Given the description of an element on the screen output the (x, y) to click on. 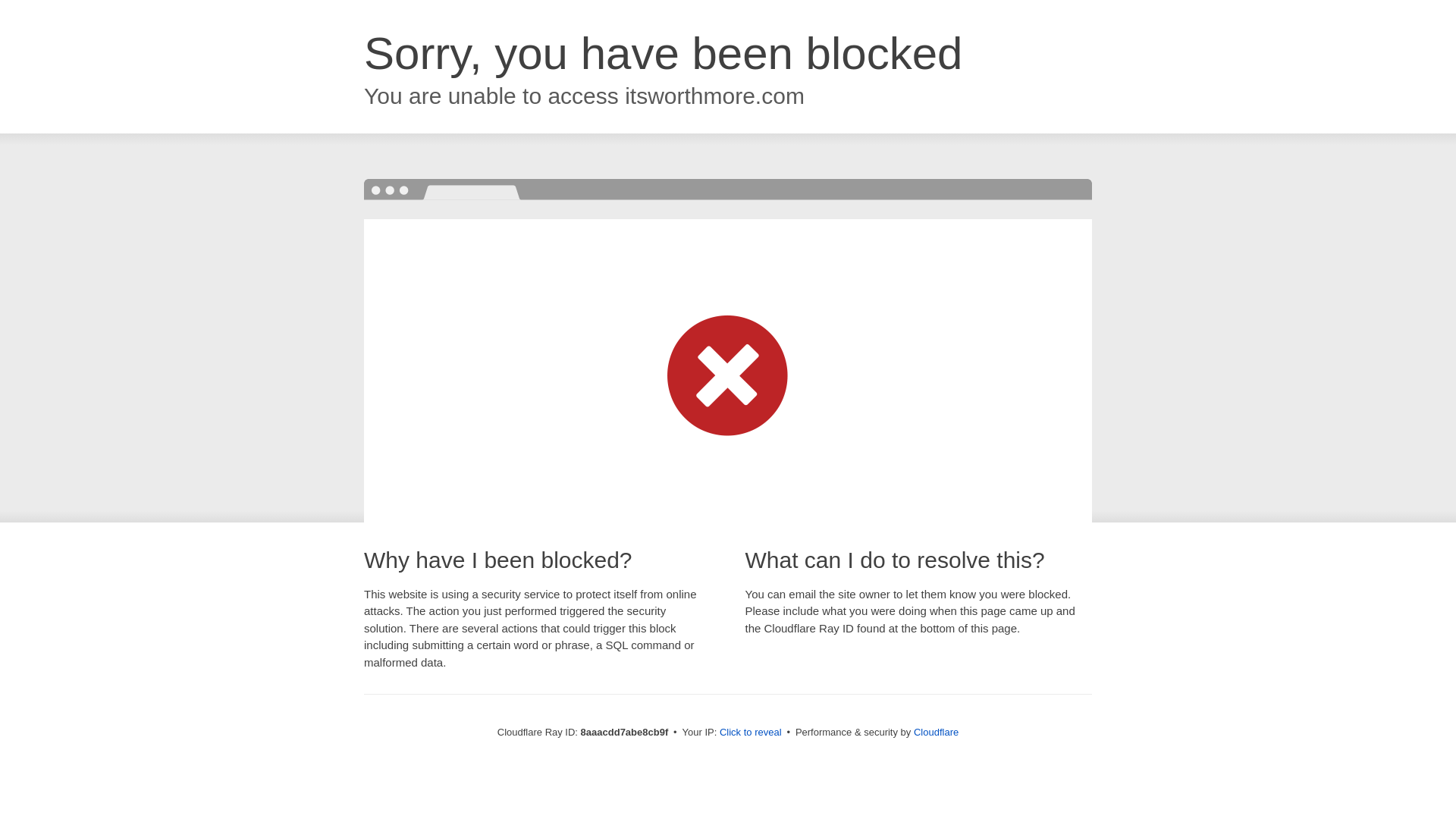
Cloudflare (936, 731)
Click to reveal (750, 732)
